Given the description of an element on the screen output the (x, y) to click on. 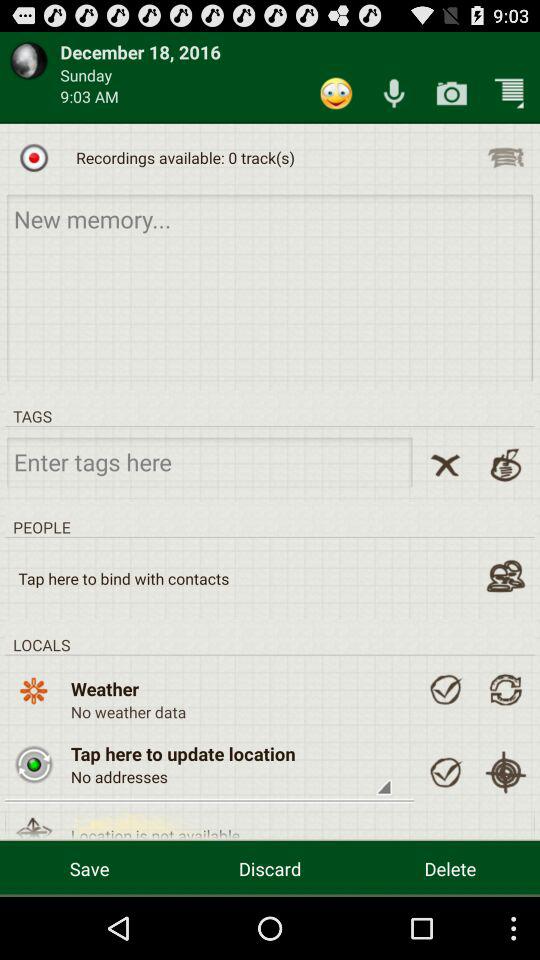
typing box (269, 286)
